Given the description of an element on the screen output the (x, y) to click on. 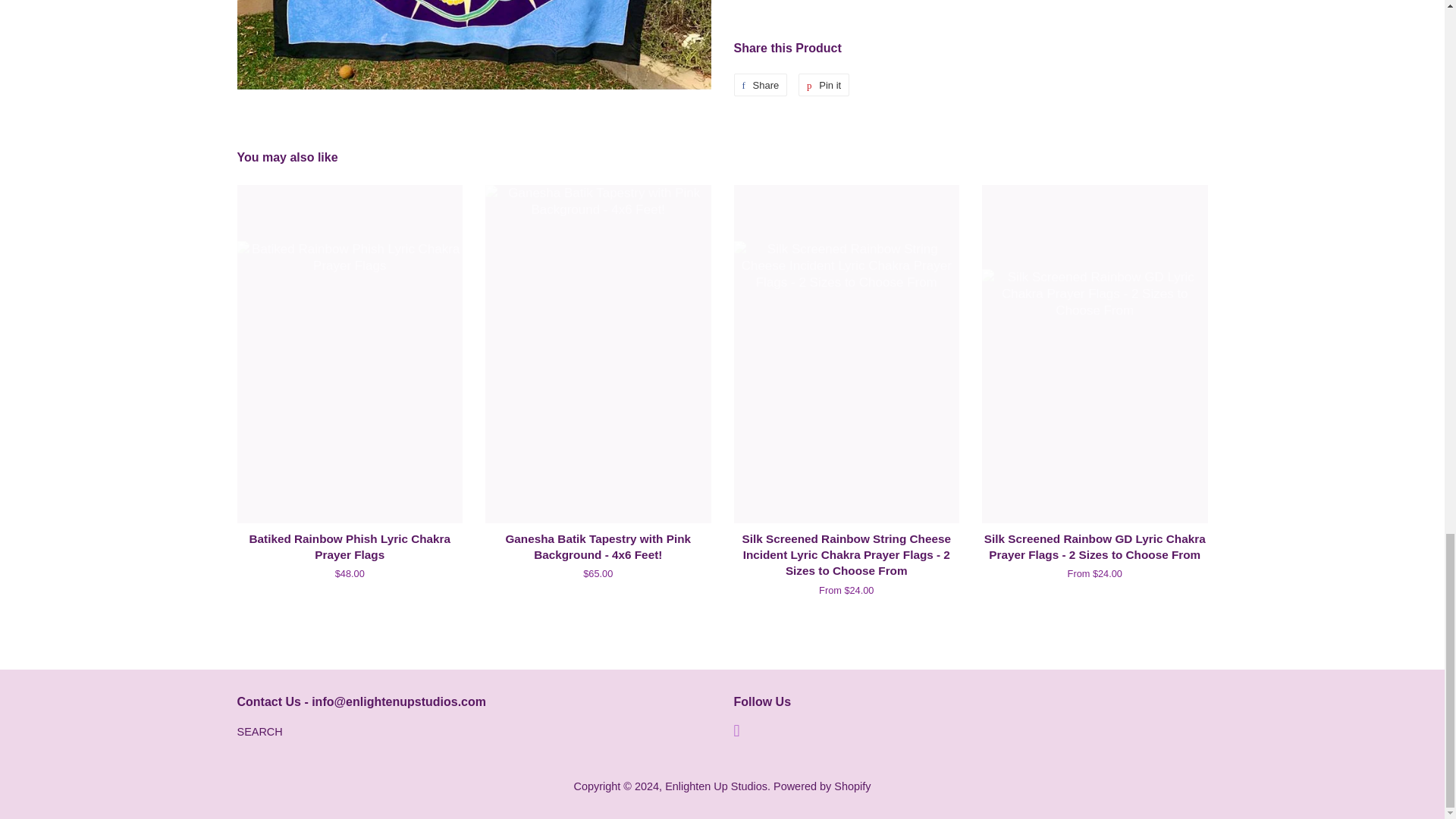
Pin on Pinterest (822, 84)
Share on Facebook (822, 84)
